Given the description of an element on the screen output the (x, y) to click on. 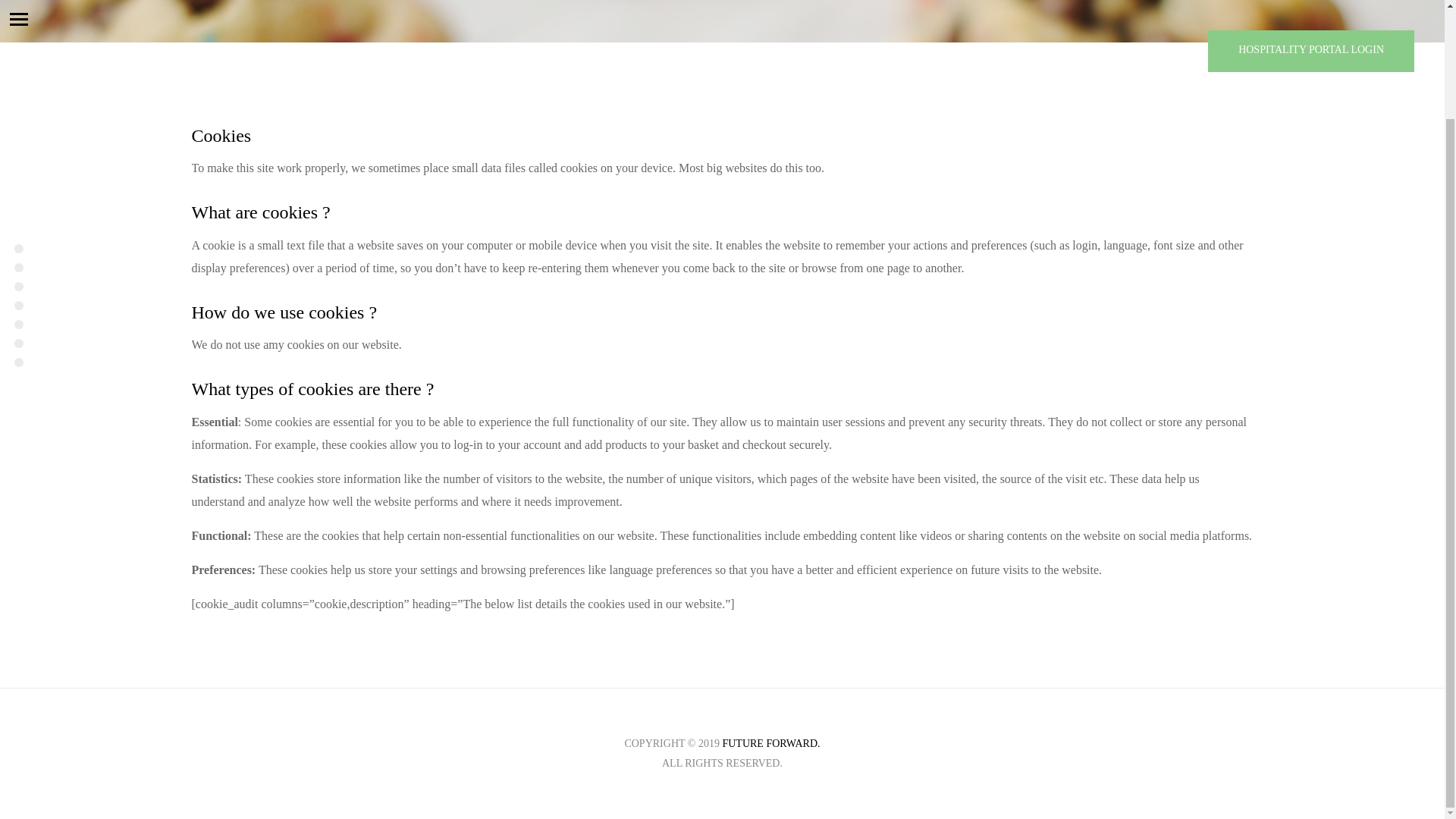
Onze Diensten (18, 177)
Gedeelde Faciliteiten (18, 158)
FUTURE FORWARD. (770, 743)
HeadQuarter (18, 139)
Gedeelde Faciliteiten (18, 158)
Omgeving (18, 215)
Beschikbare ruimtes (18, 196)
Omgeving (18, 215)
Contact (18, 233)
Home (18, 120)
Home (18, 120)
Beschikbare ruimtes (18, 196)
Contact (18, 233)
HeadQuarter (18, 139)
Onze Diensten (18, 177)
